Given the description of an element on the screen output the (x, y) to click on. 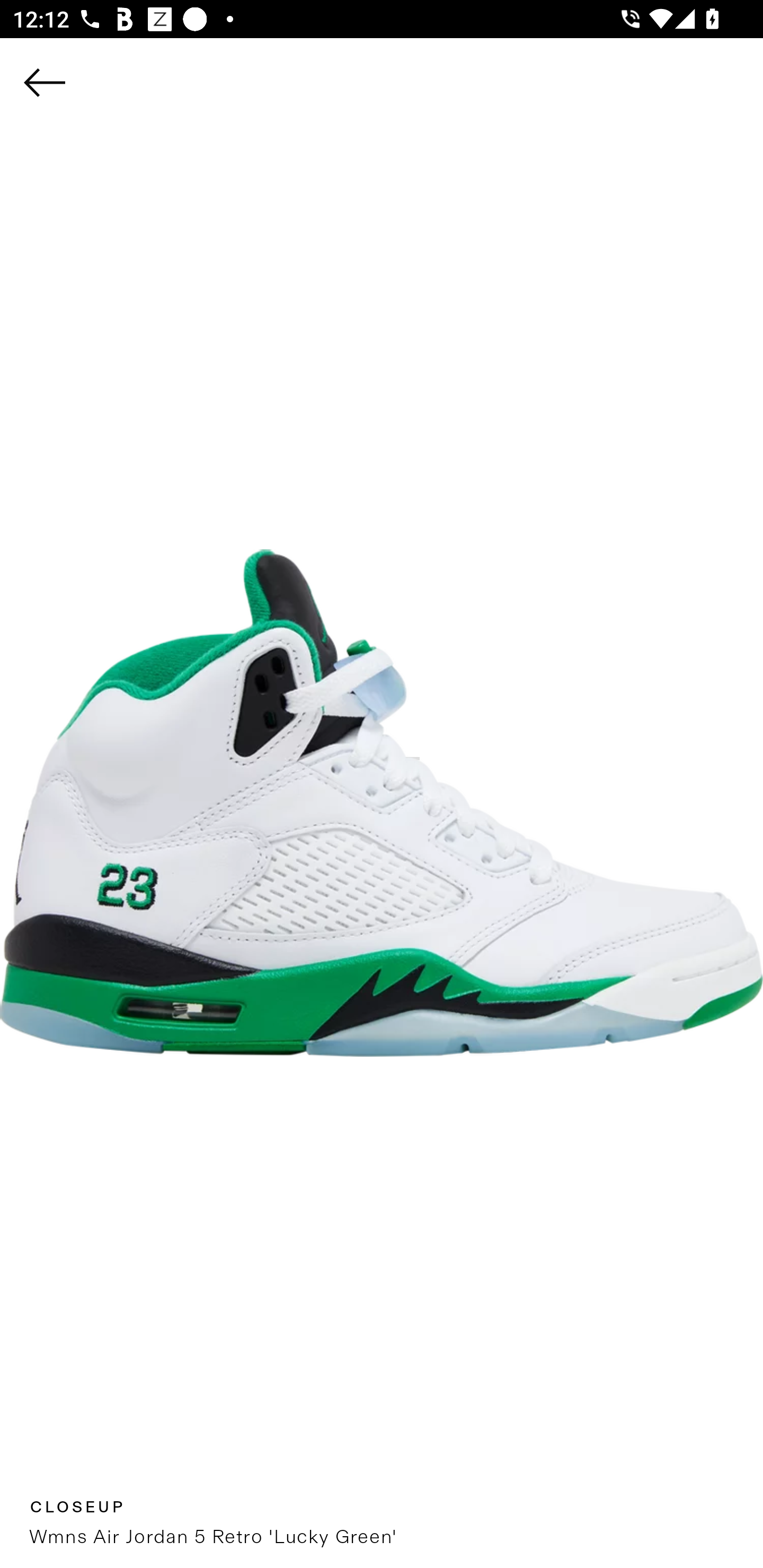
Navigate up (44, 82)
